Given the description of an element on the screen output the (x, y) to click on. 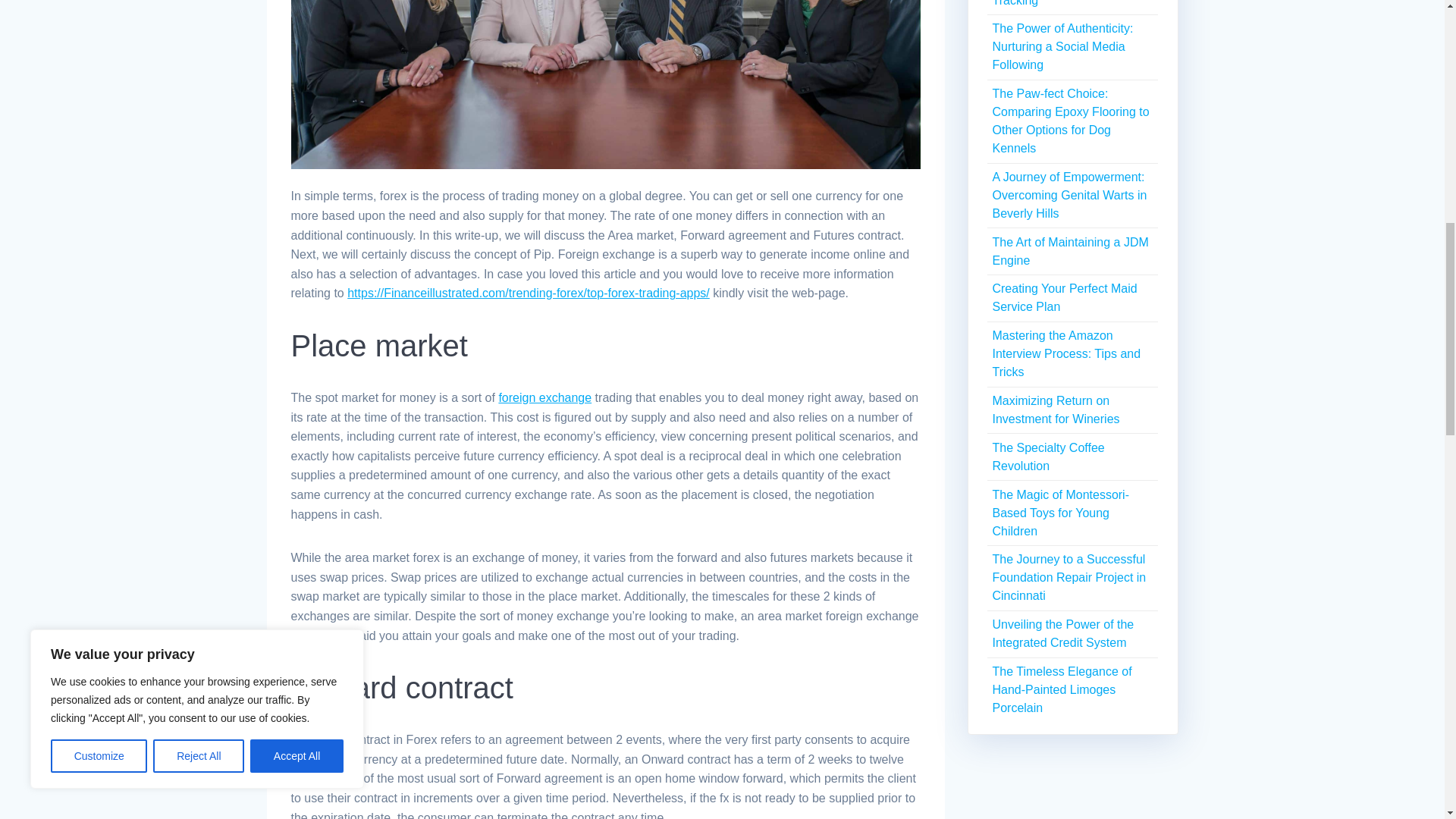
The Art of Maintaining a JDM Engine (1069, 250)
foreign exchange (544, 397)
Creating Your Perfect Maid Service Plan (1064, 296)
